Given the description of an element on the screen output the (x, y) to click on. 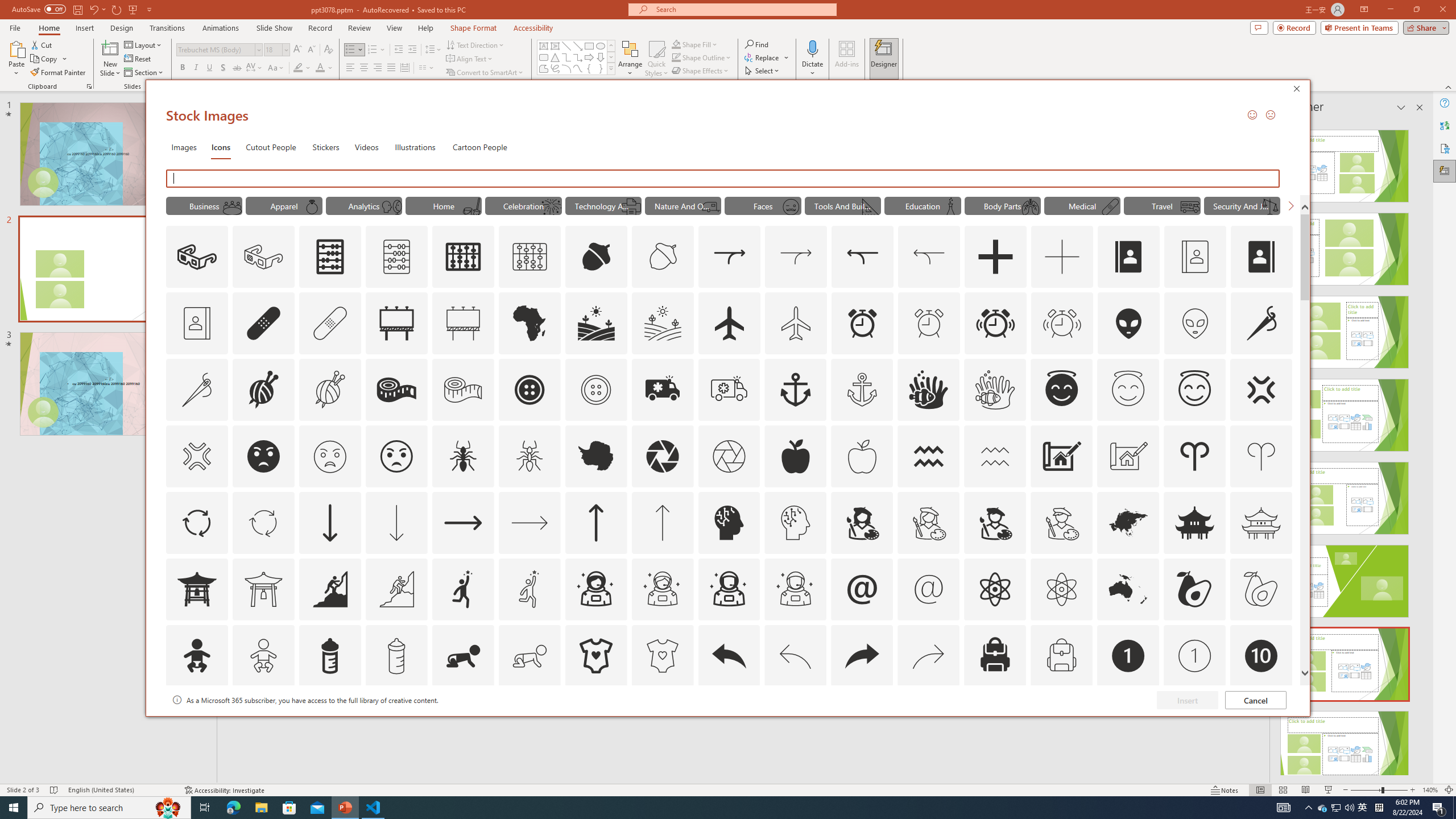
AutomationID: Icons_Back_LTR (729, 655)
AutomationID: Icons_Ambulance (662, 389)
AutomationID: Icons_AlterationsTailoring1 (263, 389)
AutomationID: Icons_Back_RTL_M (928, 655)
AutomationID: Icons_AlterationsTailoring3_M (595, 389)
AutomationID: Icons_MopAndBucket_M (471, 206)
AutomationID: Icons_Aquarius (928, 455)
AutomationID: Icons_Aries (1194, 455)
AutomationID: Icons_ArrowRight (462, 522)
